Given the description of an element on the screen output the (x, y) to click on. 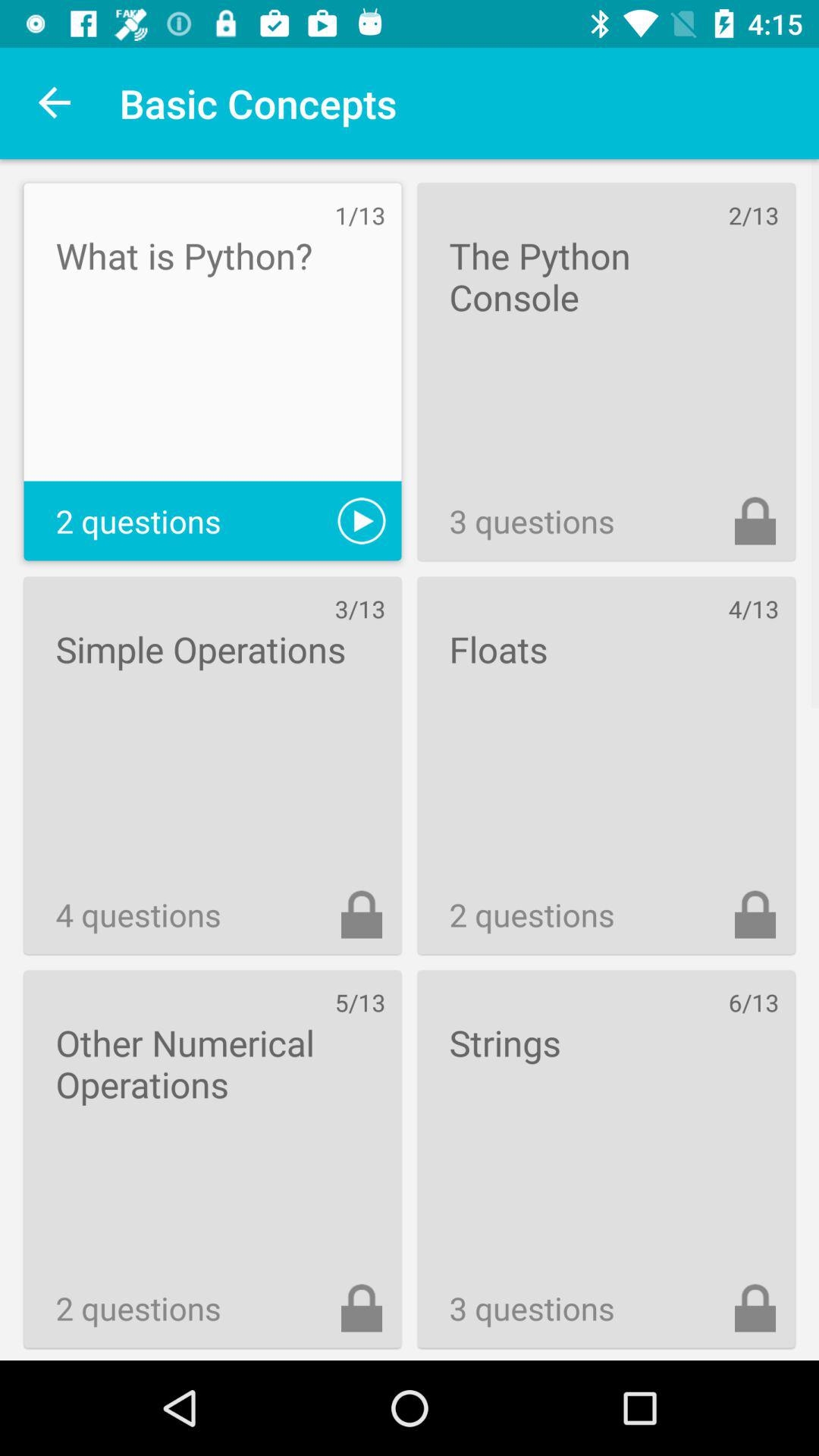
open the item next to the basic concepts icon (55, 103)
